Given the description of an element on the screen output the (x, y) to click on. 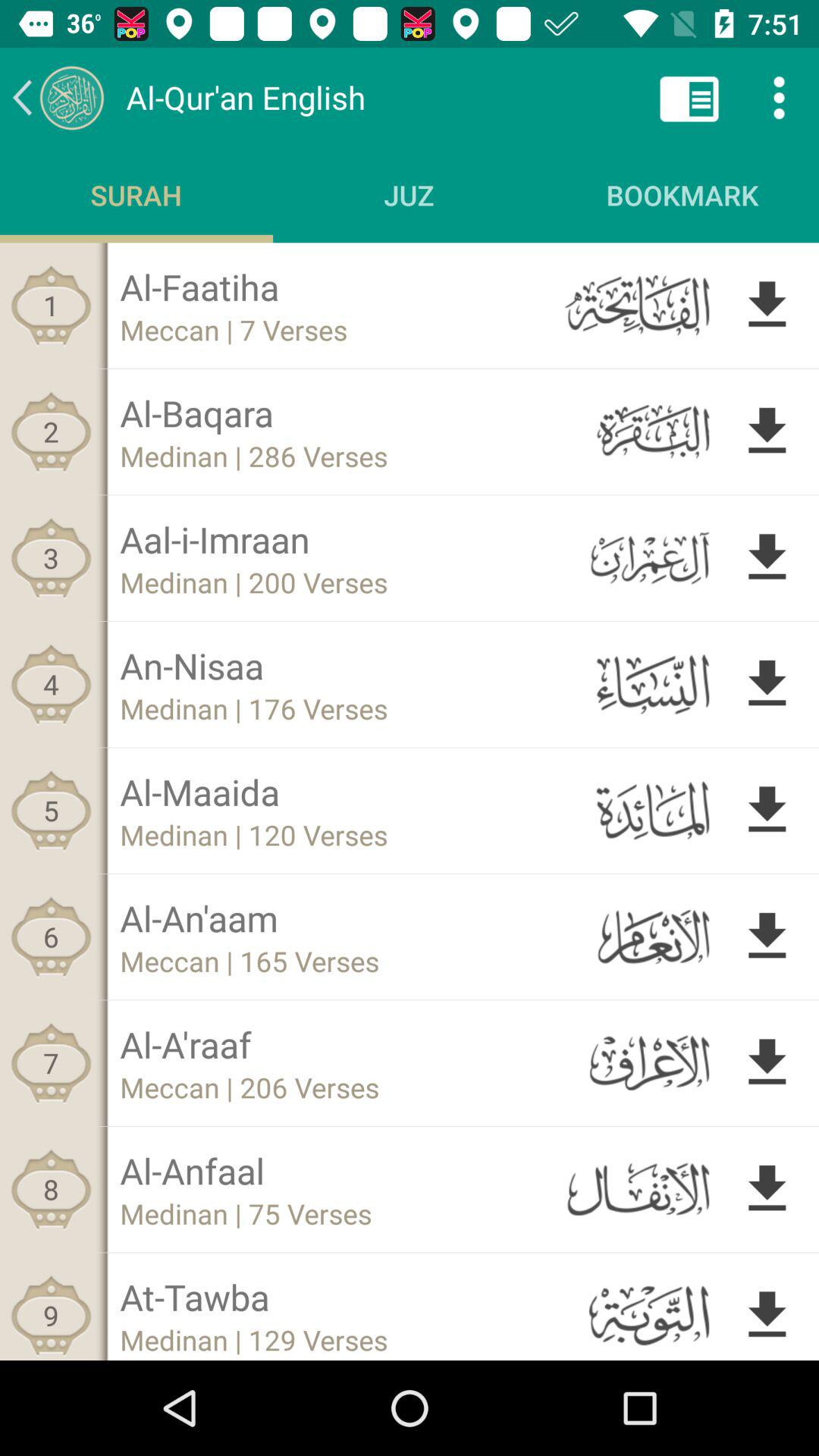
option (689, 97)
